Given the description of an element on the screen output the (x, y) to click on. 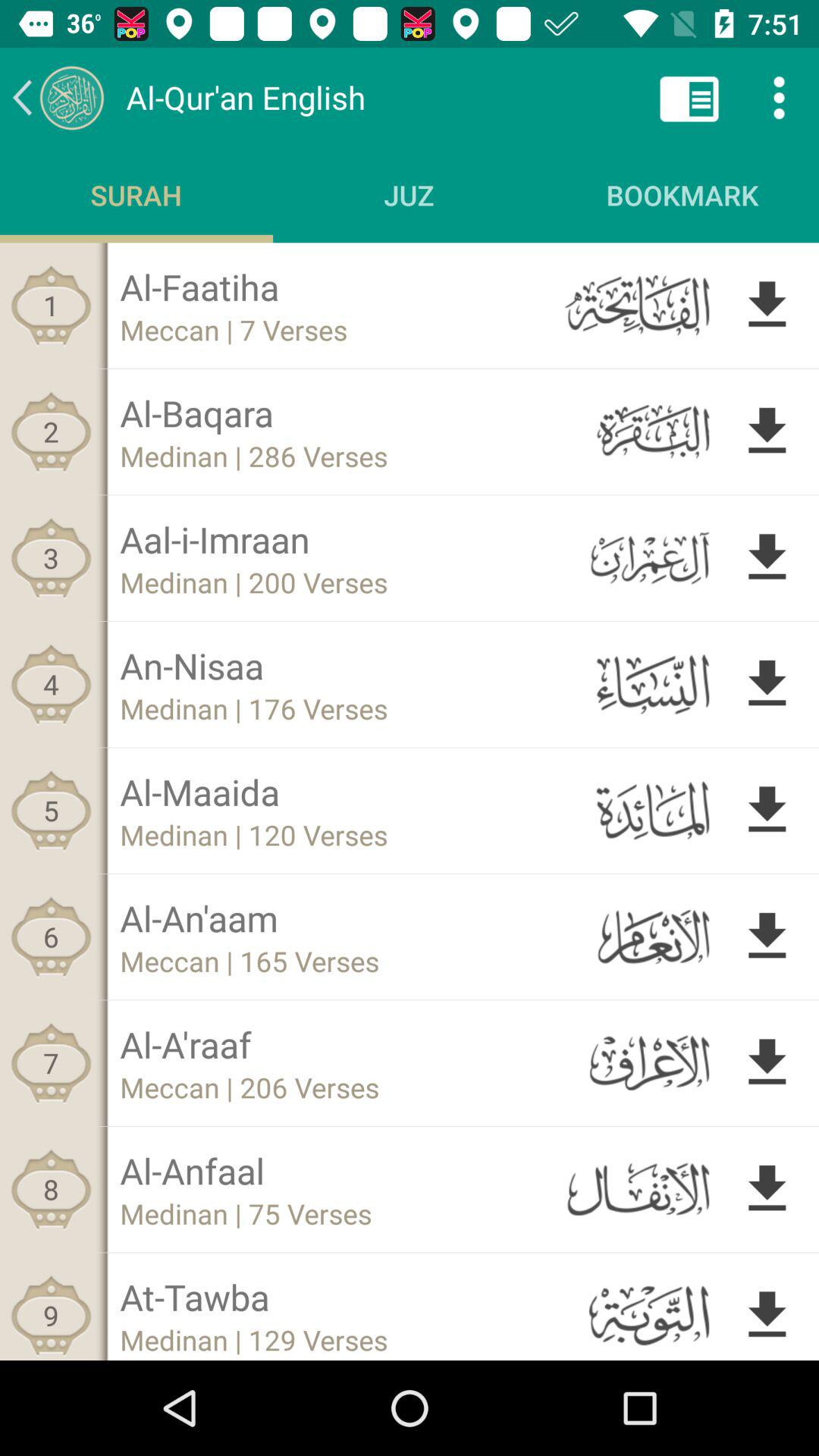
option (689, 97)
